Given the description of an element on the screen output the (x, y) to click on. 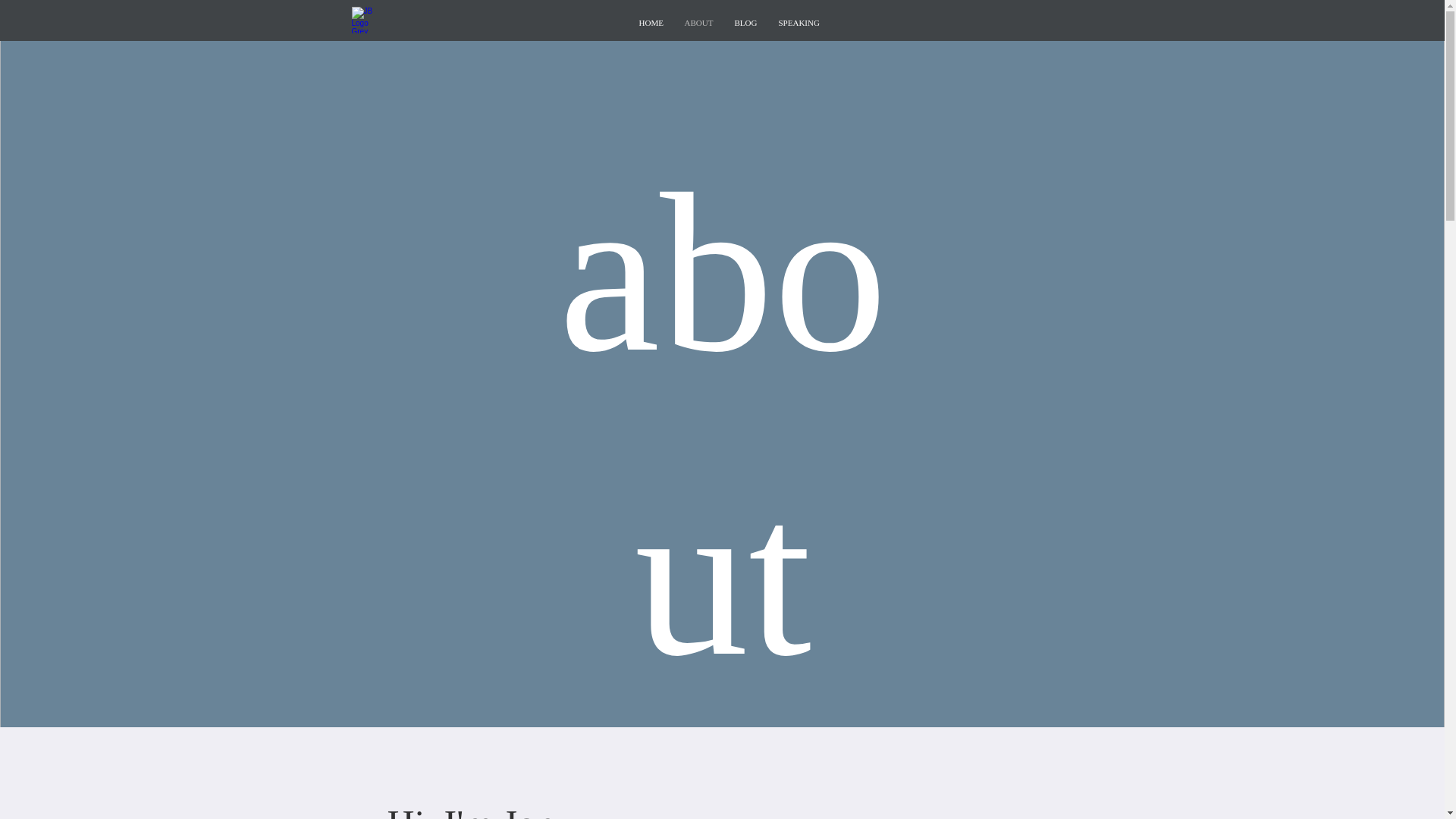
HOME Element type: text (650, 22)
BLOG Element type: text (745, 22)
ABOUT Element type: text (698, 22)
SPEAKING Element type: text (798, 22)
